Given the description of an element on the screen output the (x, y) to click on. 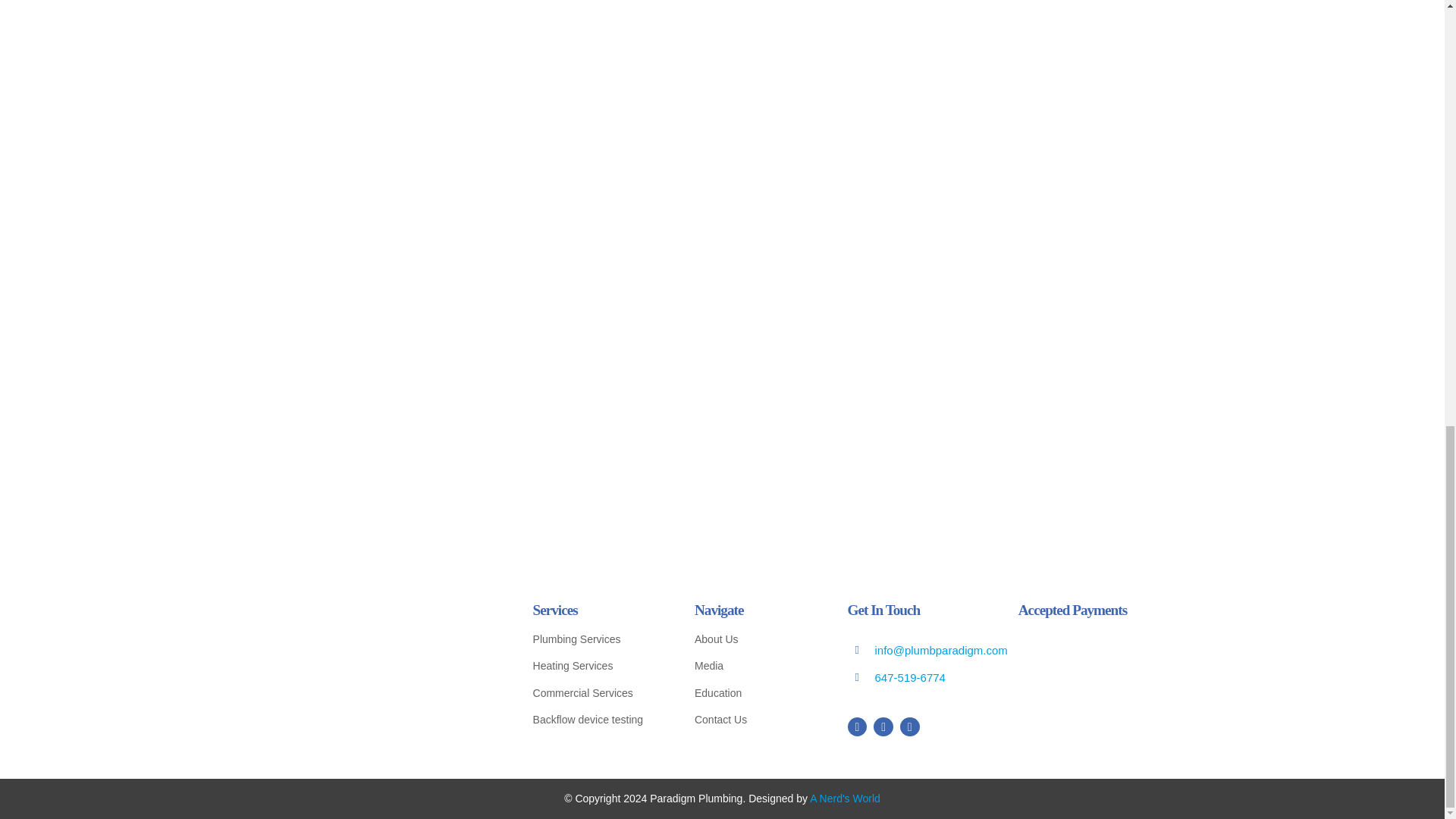
Heating Services (596, 665)
Education (753, 692)
Plumbing Services (596, 639)
Paradigm colour full (383, 661)
647-519-6774 (909, 676)
About Us (753, 639)
Commercial Services (596, 692)
Media (753, 665)
Backflow device testing (596, 719)
Contact Us (753, 719)
